Given the description of an element on the screen output the (x, y) to click on. 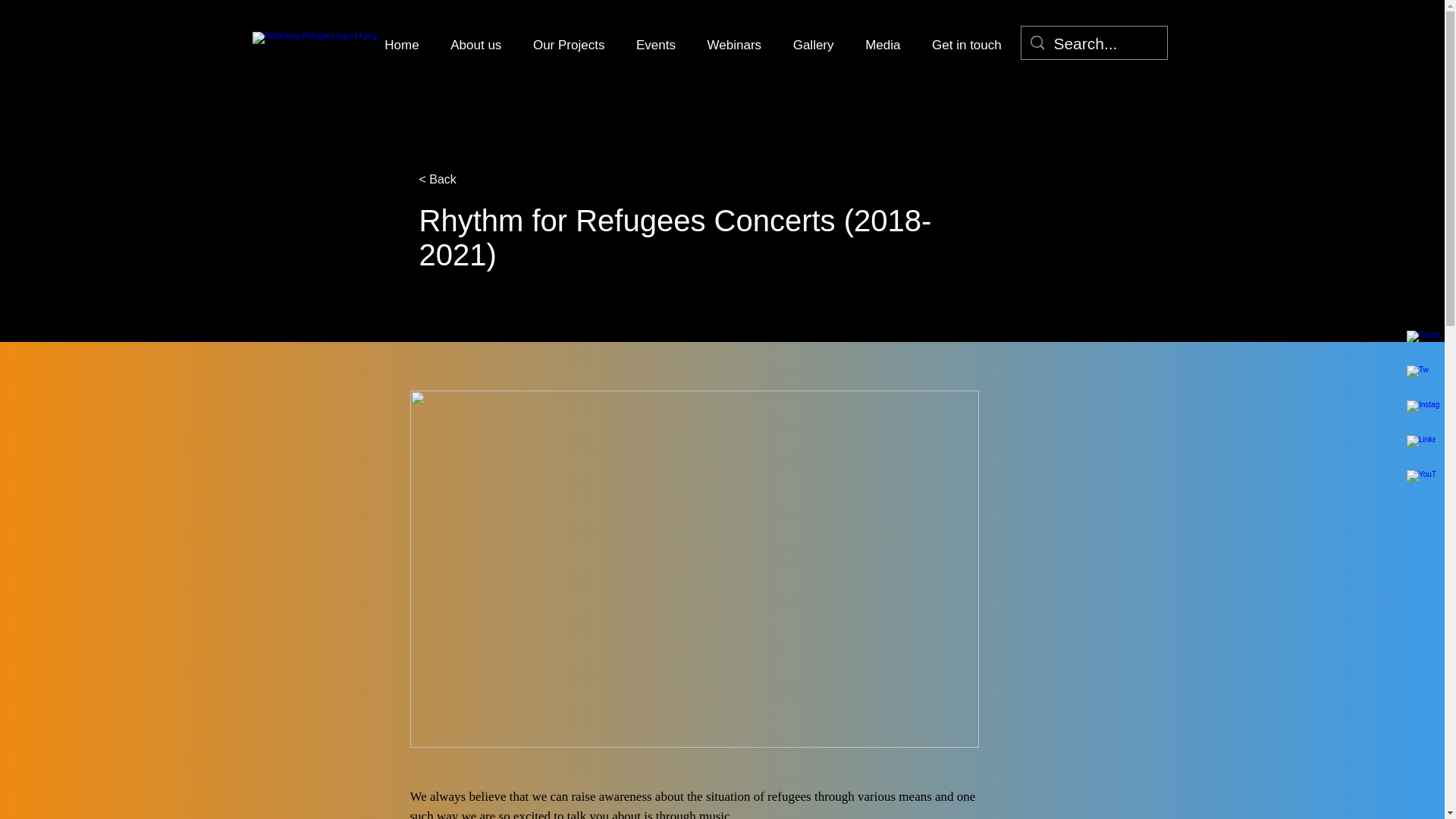
About us (475, 45)
Gallery (812, 45)
Home (400, 45)
Media (881, 45)
Webinars (734, 45)
Events (655, 45)
Get in touch (965, 45)
Our Projects (568, 45)
